Given the description of an element on the screen output the (x, y) to click on. 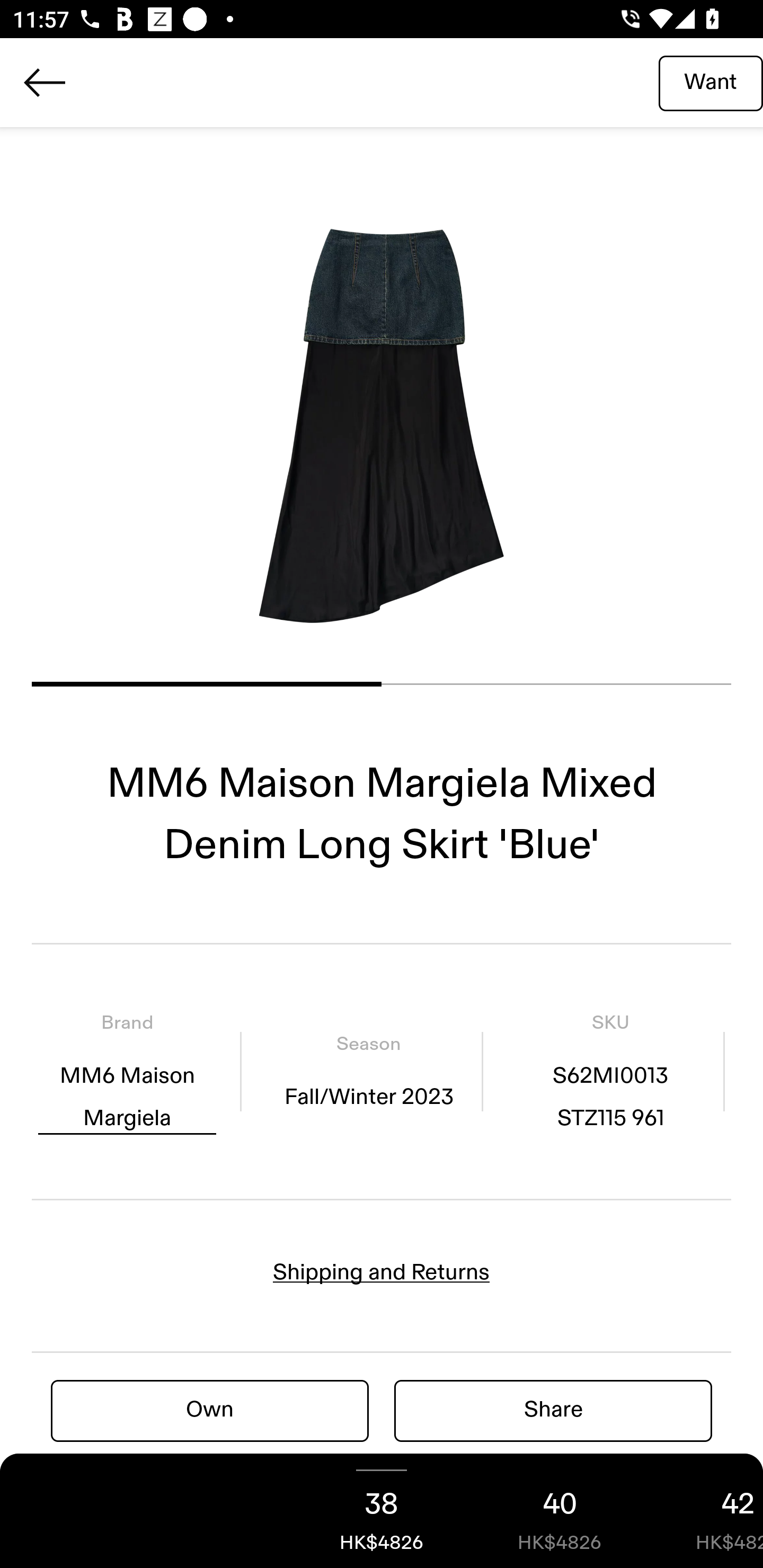
Want (710, 82)
Brand MM6 Maison Margiela (126, 1070)
Season Fall/Winter 2023 (368, 1070)
SKU S62MI0013 STZ115 961 (609, 1070)
Shipping and Returns (381, 1272)
Own (209, 1410)
Share (552, 1410)
38 HK$4826 (381, 1510)
40 HK$4826 (559, 1510)
42 HK$4826 (705, 1510)
